Given the description of an element on the screen output the (x, y) to click on. 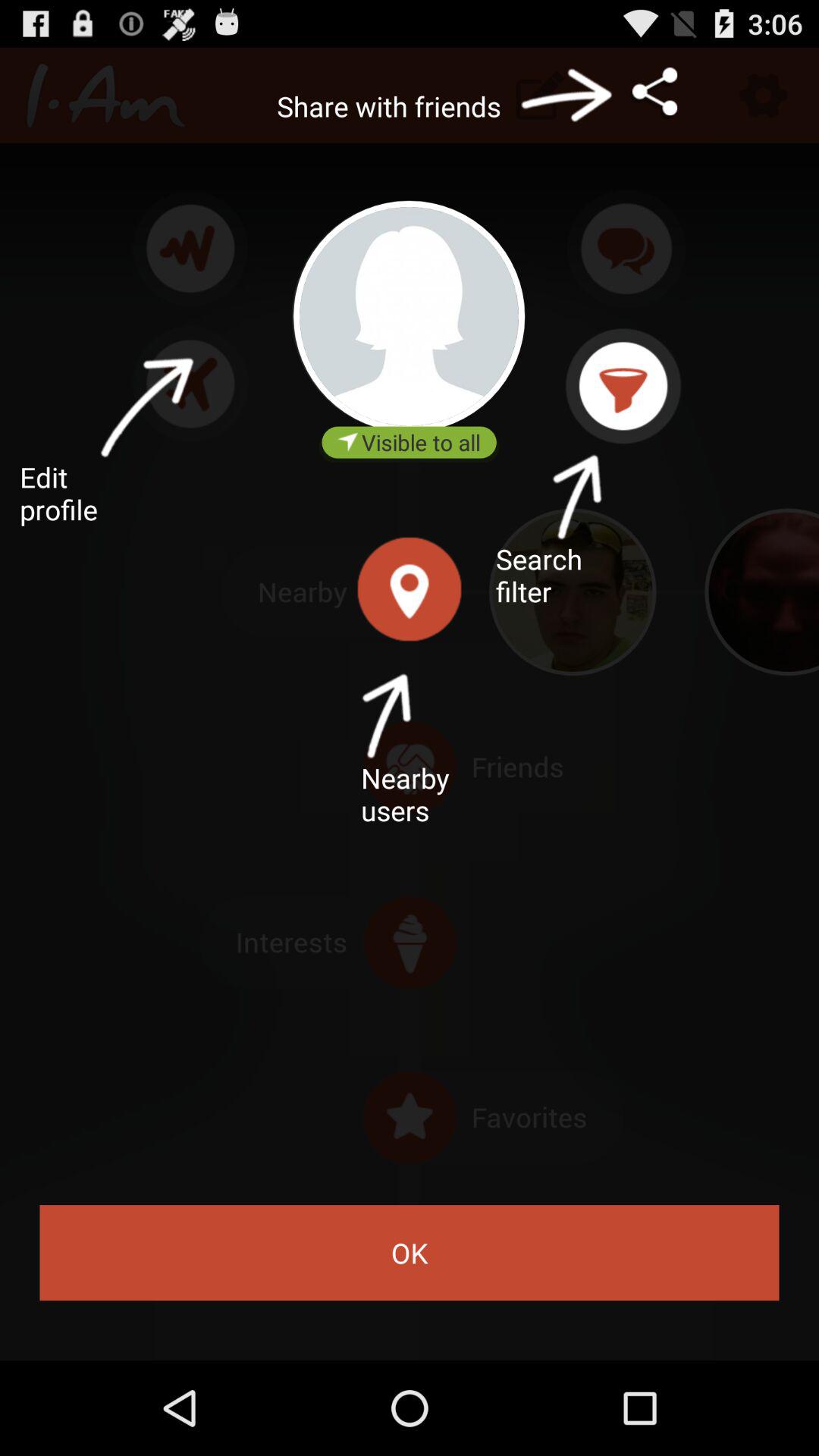
press icon at the bottom (409, 1252)
